Given the description of an element on the screen output the (x, y) to click on. 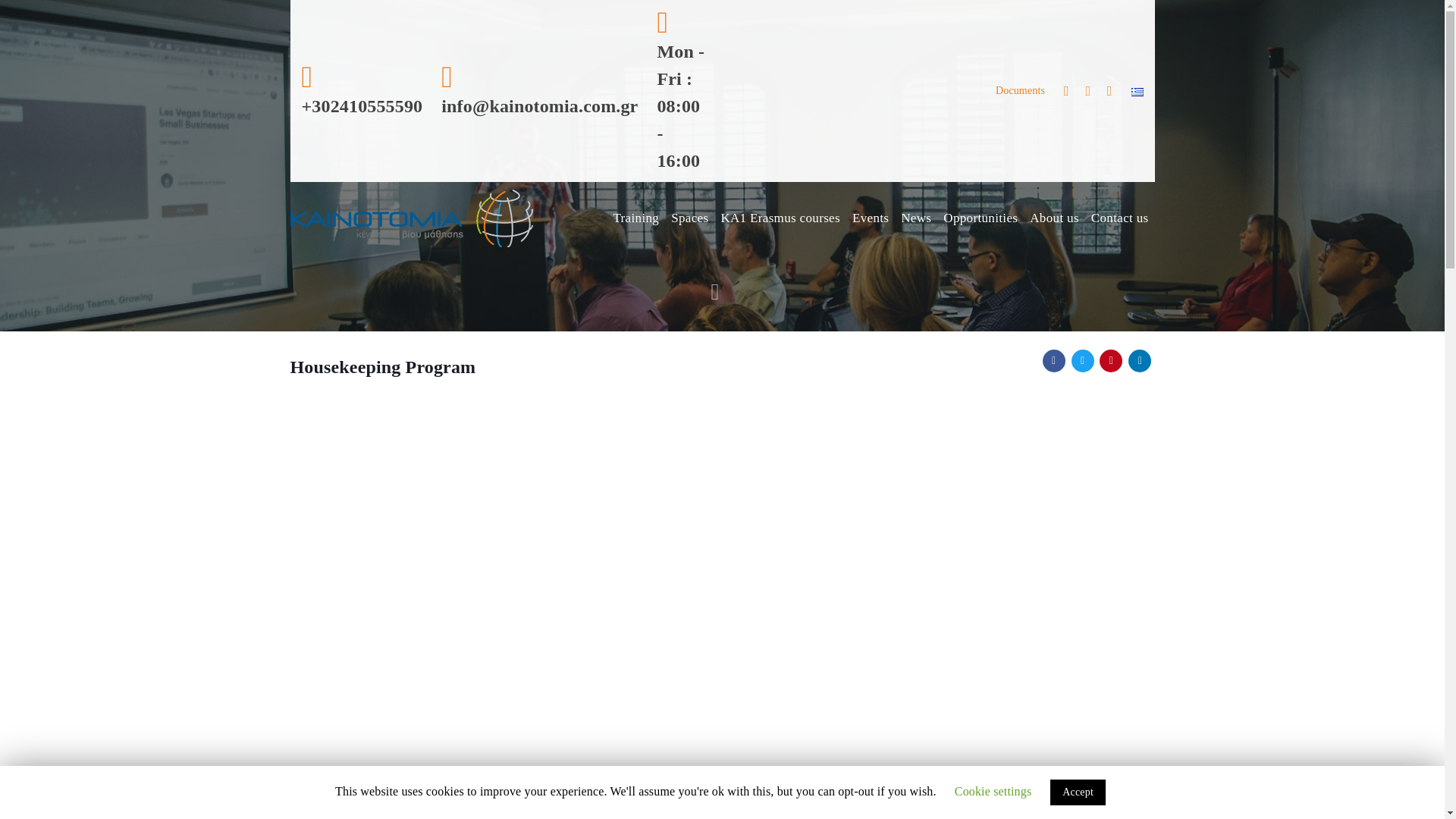
Opportunities (980, 217)
Documents (1020, 90)
KA1 Erasmus courses (779, 217)
Contact us (1119, 217)
